Given the description of an element on the screen output the (x, y) to click on. 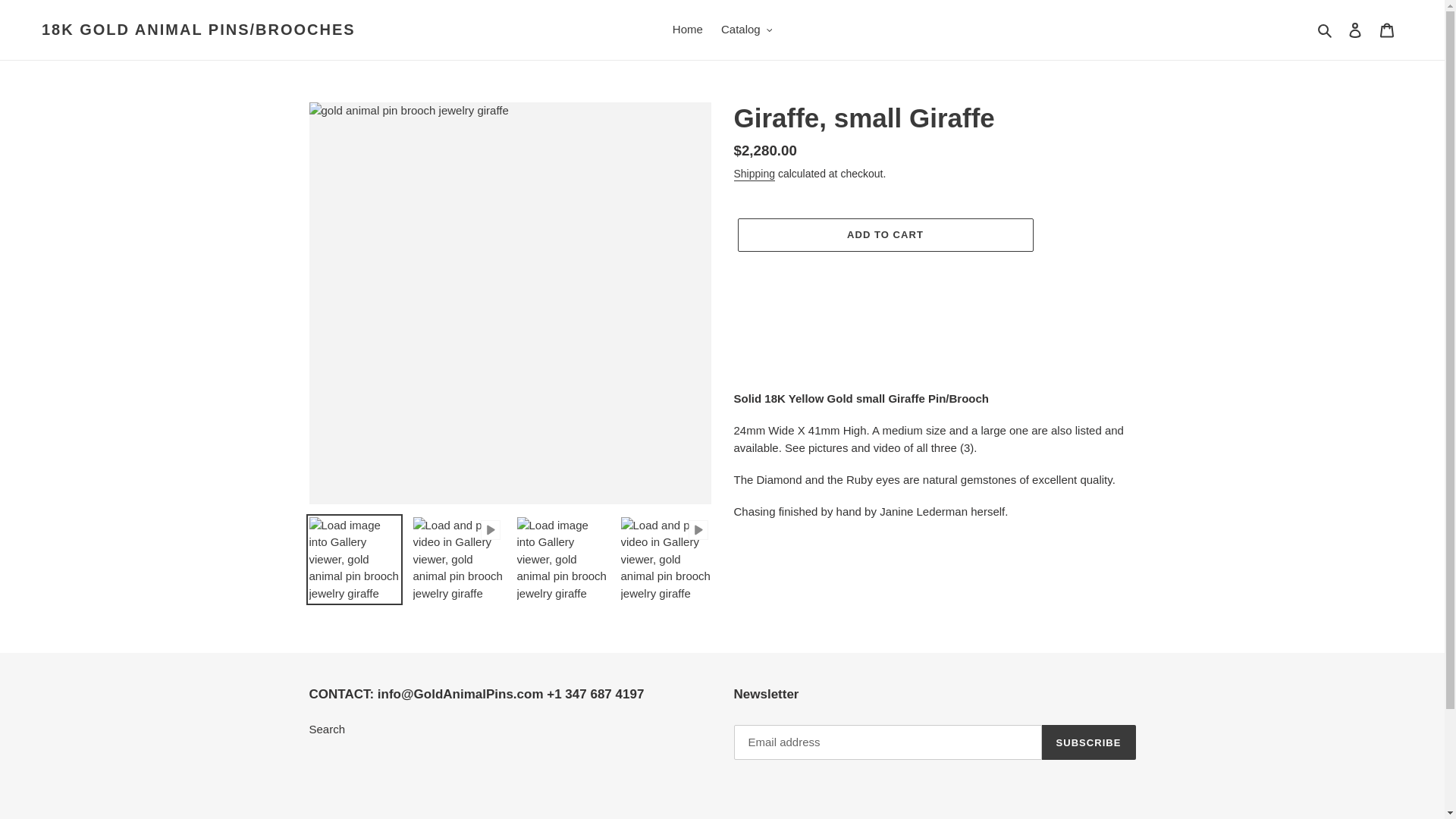
Home (687, 29)
Cart (1387, 29)
Catalog (745, 29)
Search (1326, 29)
Log in (1355, 29)
